Given the description of an element on the screen output the (x, y) to click on. 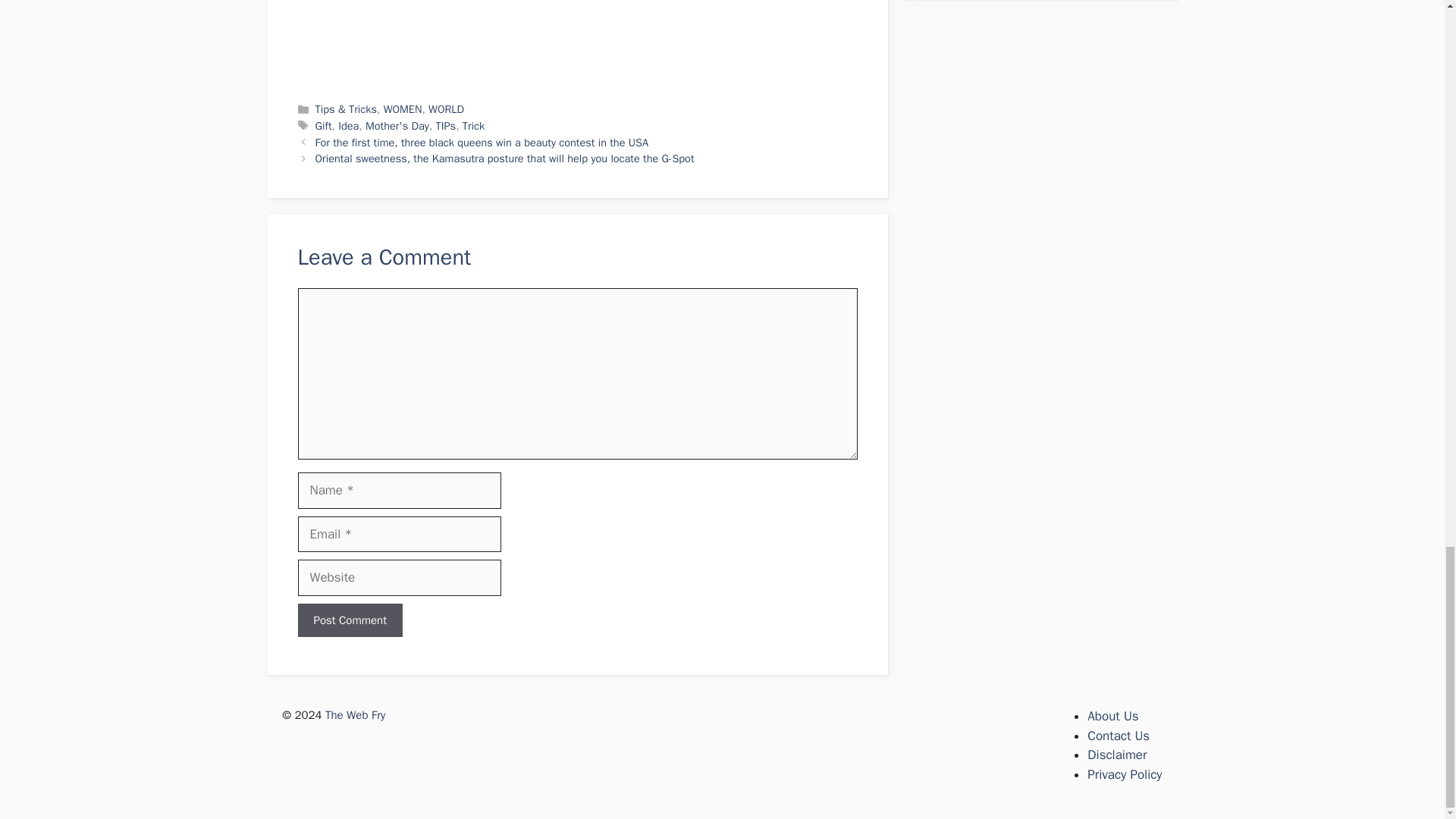
WORLD (446, 109)
WOMEN (403, 109)
Post Comment (349, 620)
Idea (347, 125)
Gift (323, 125)
